Given the description of an element on the screen output the (x, y) to click on. 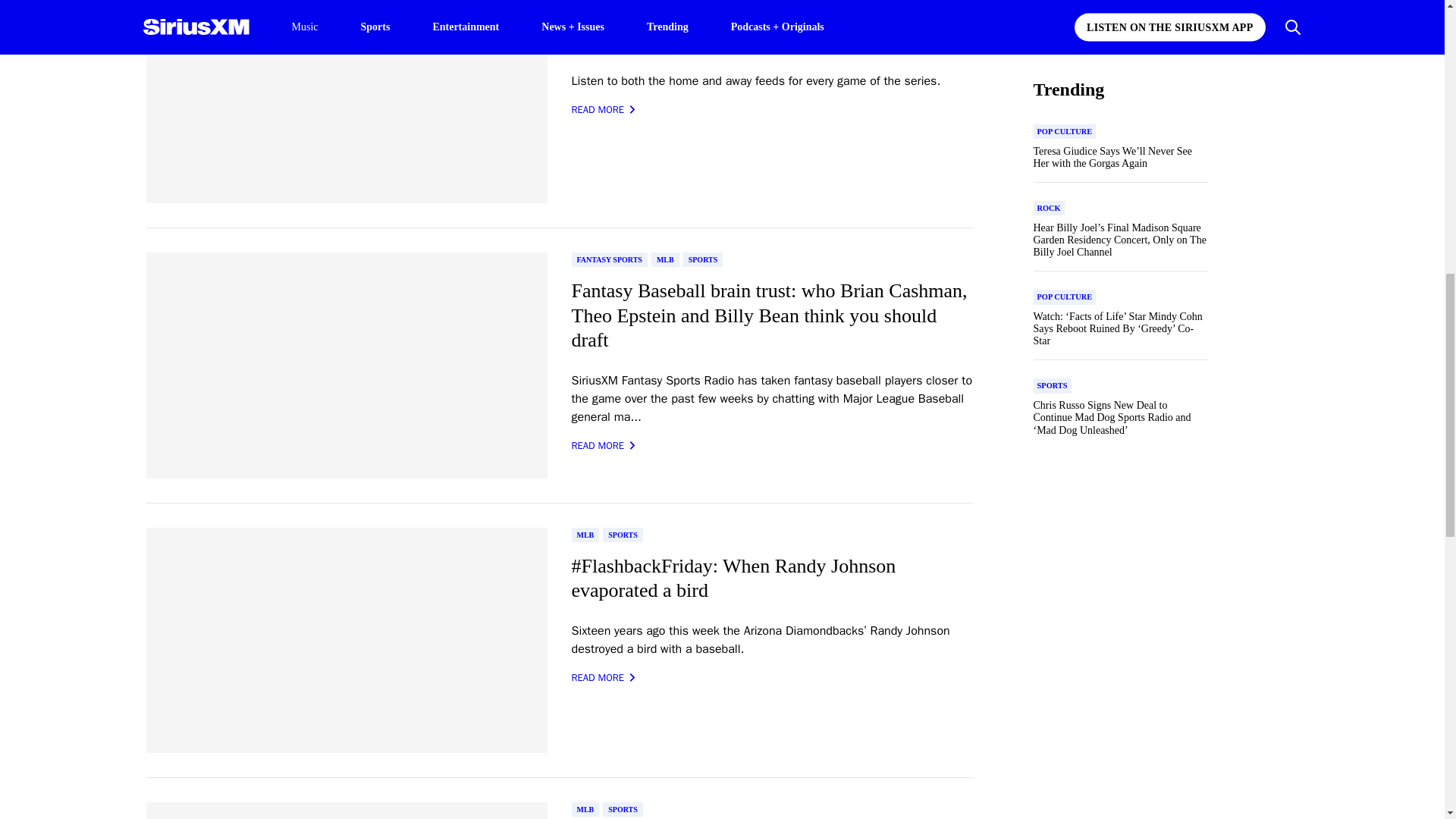
READ MORE (603, 109)
SPORTS (702, 259)
MLB (664, 259)
Catch the Diamondbacks-Dodgers NLDS on SiriusXM (772, 29)
FANTASY SPORTS (609, 259)
